Given the description of an element on the screen output the (x, y) to click on. 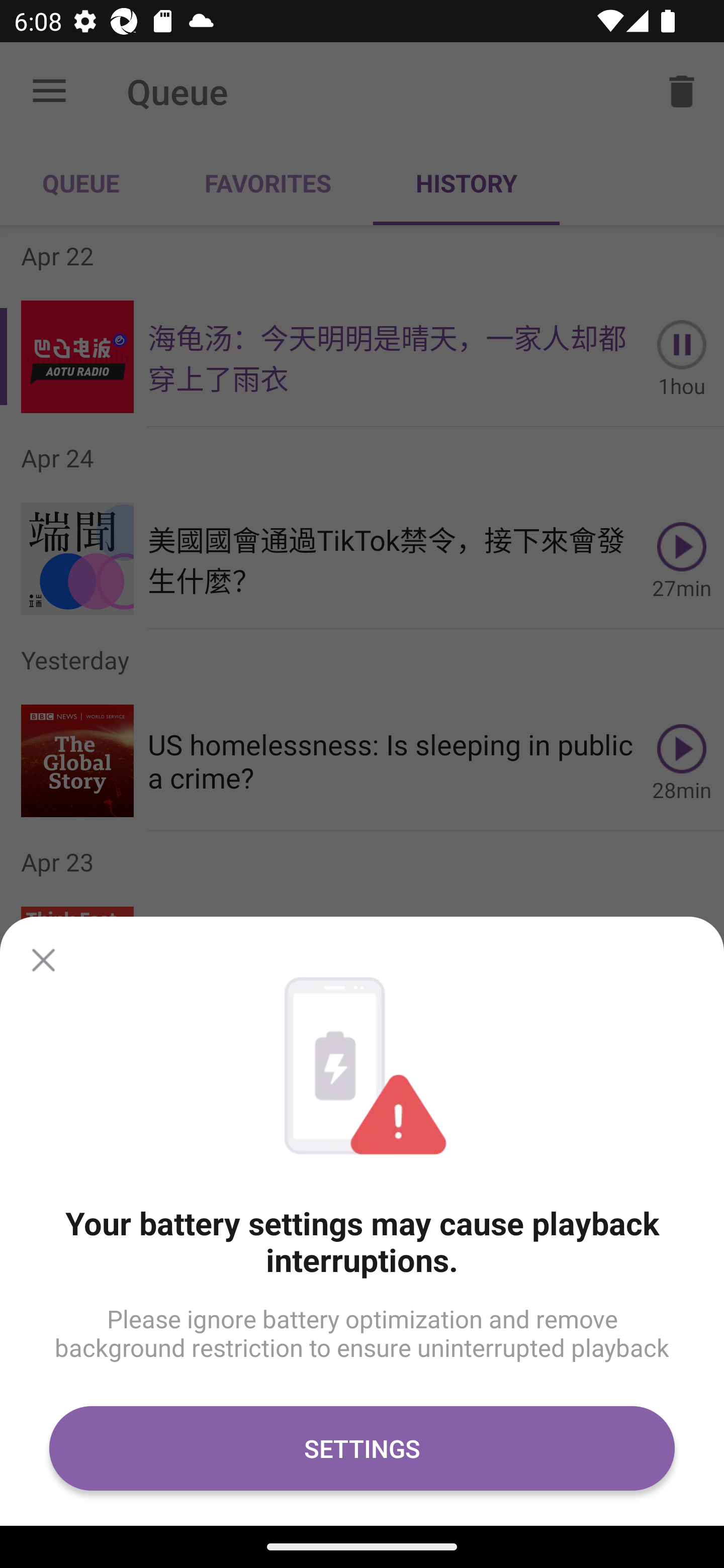
SETTINGS (361, 1448)
